Given the description of an element on the screen output the (x, y) to click on. 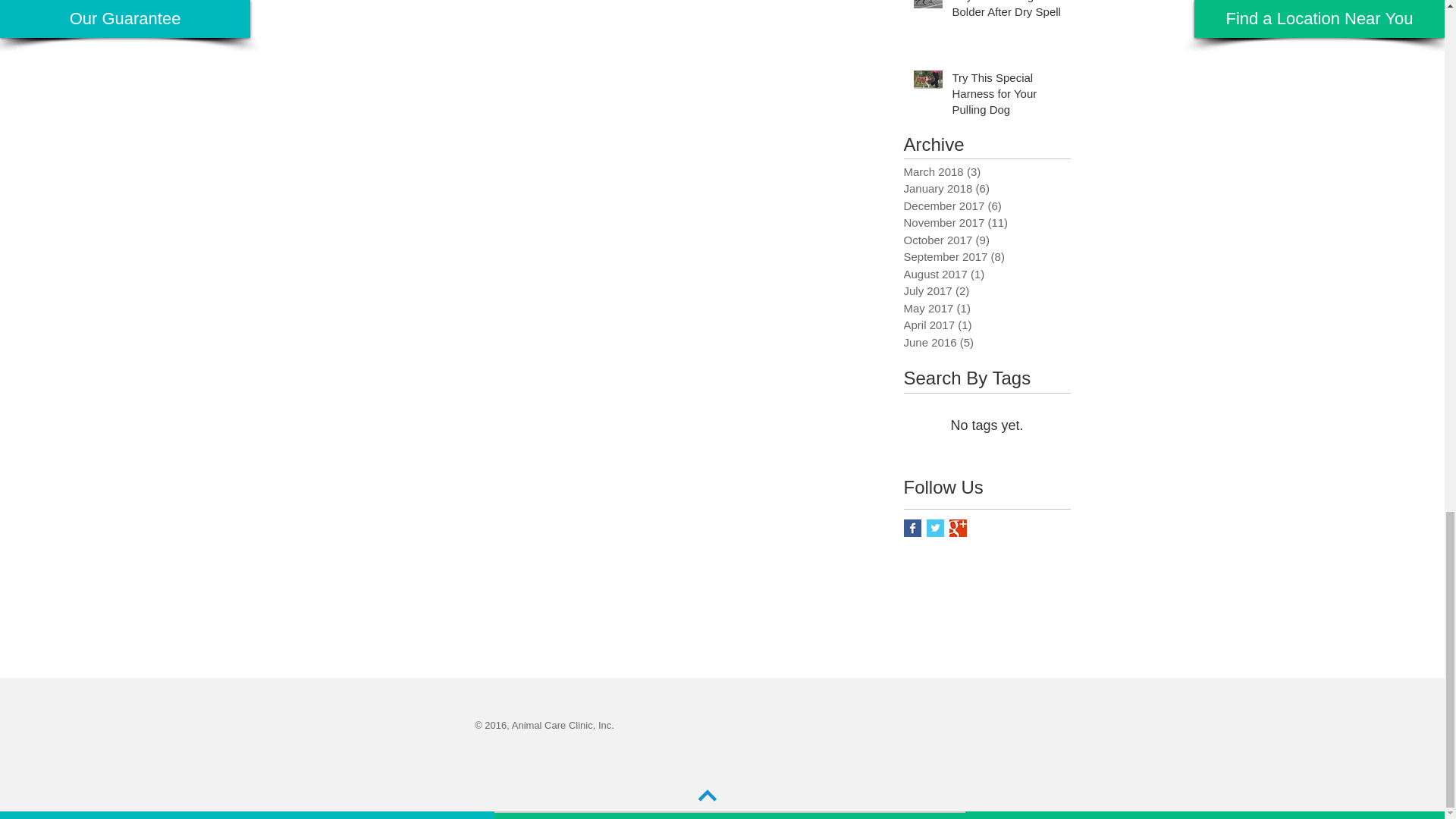
Try This Special Harness for Your Pulling Dog (1006, 96)
Coyotes Getting Bolder After Dry Spell (1006, 12)
